Given the description of an element on the screen output the (x, y) to click on. 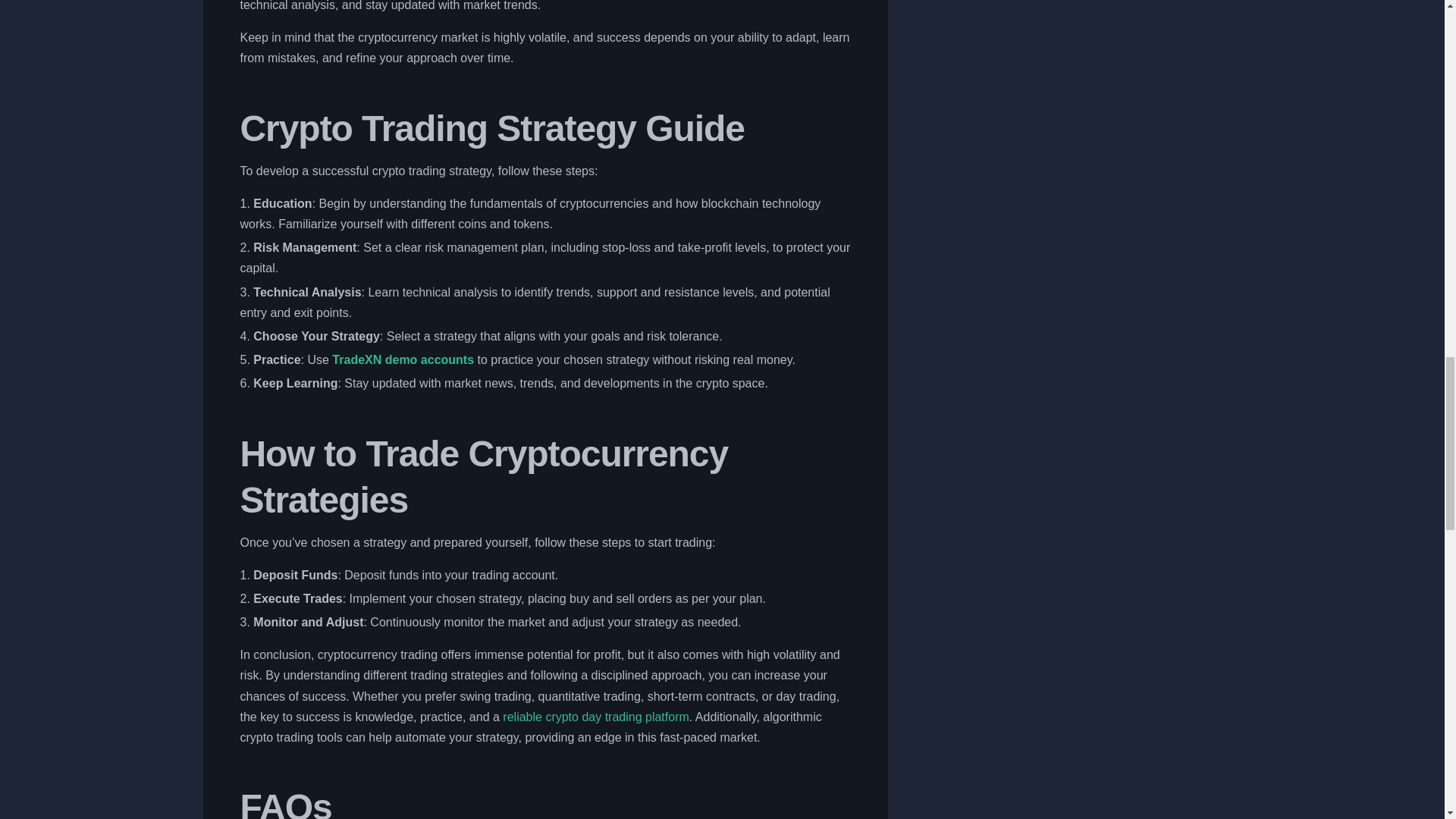
reliable crypto day trading platform (595, 716)
TradeXN demo accounts (402, 359)
